Given the description of an element on the screen output the (x, y) to click on. 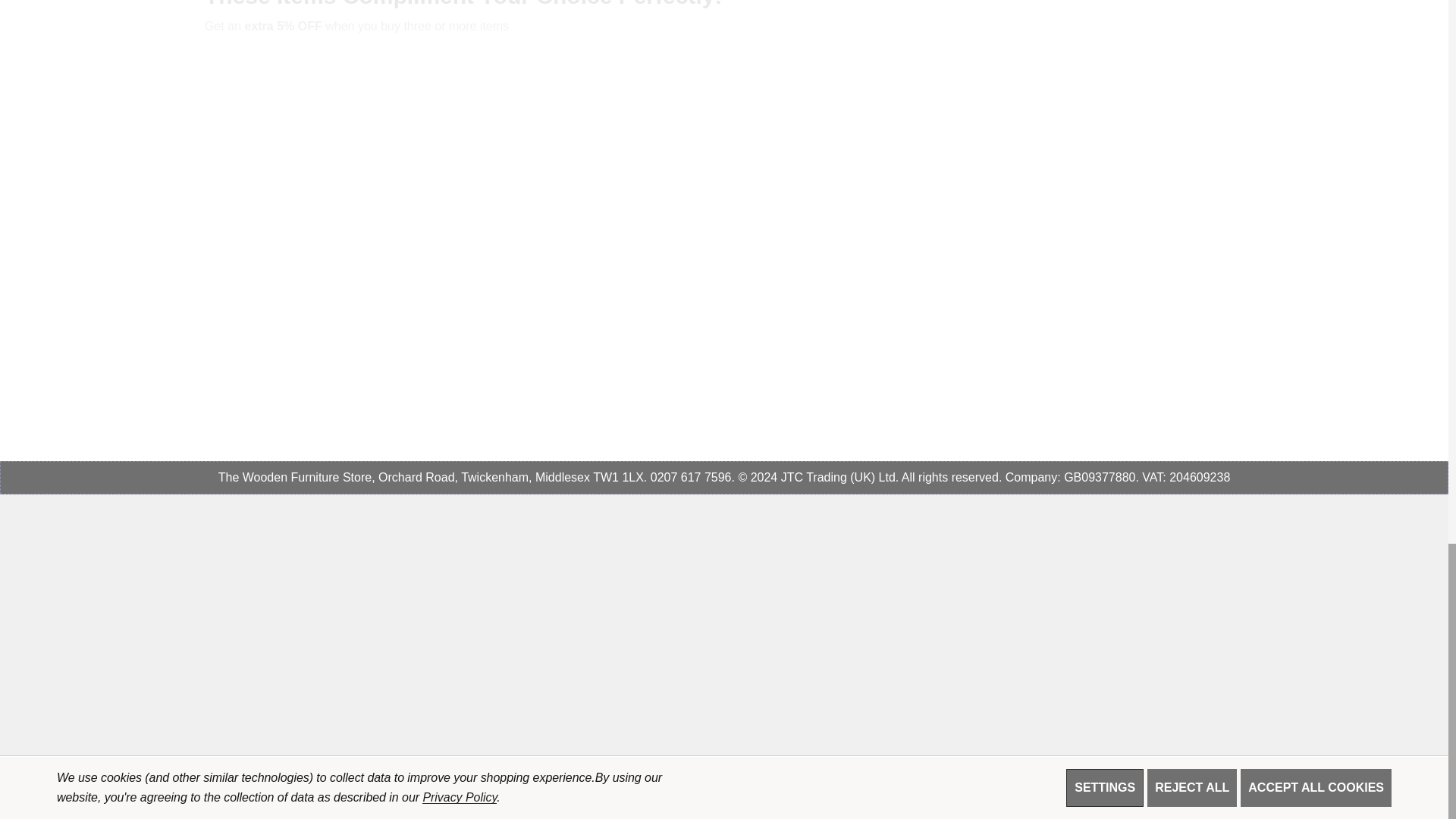
Cirrus Cirrus (1187, 787)
Western Union Western Union (1267, 787)
Amazonpay Amazonpay (1308, 787)
Visa Visa (1066, 787)
Paypal Paypal (1226, 787)
Discover Discover (1146, 787)
Mastercard Mastercard (1107, 787)
